Given the description of an element on the screen output the (x, y) to click on. 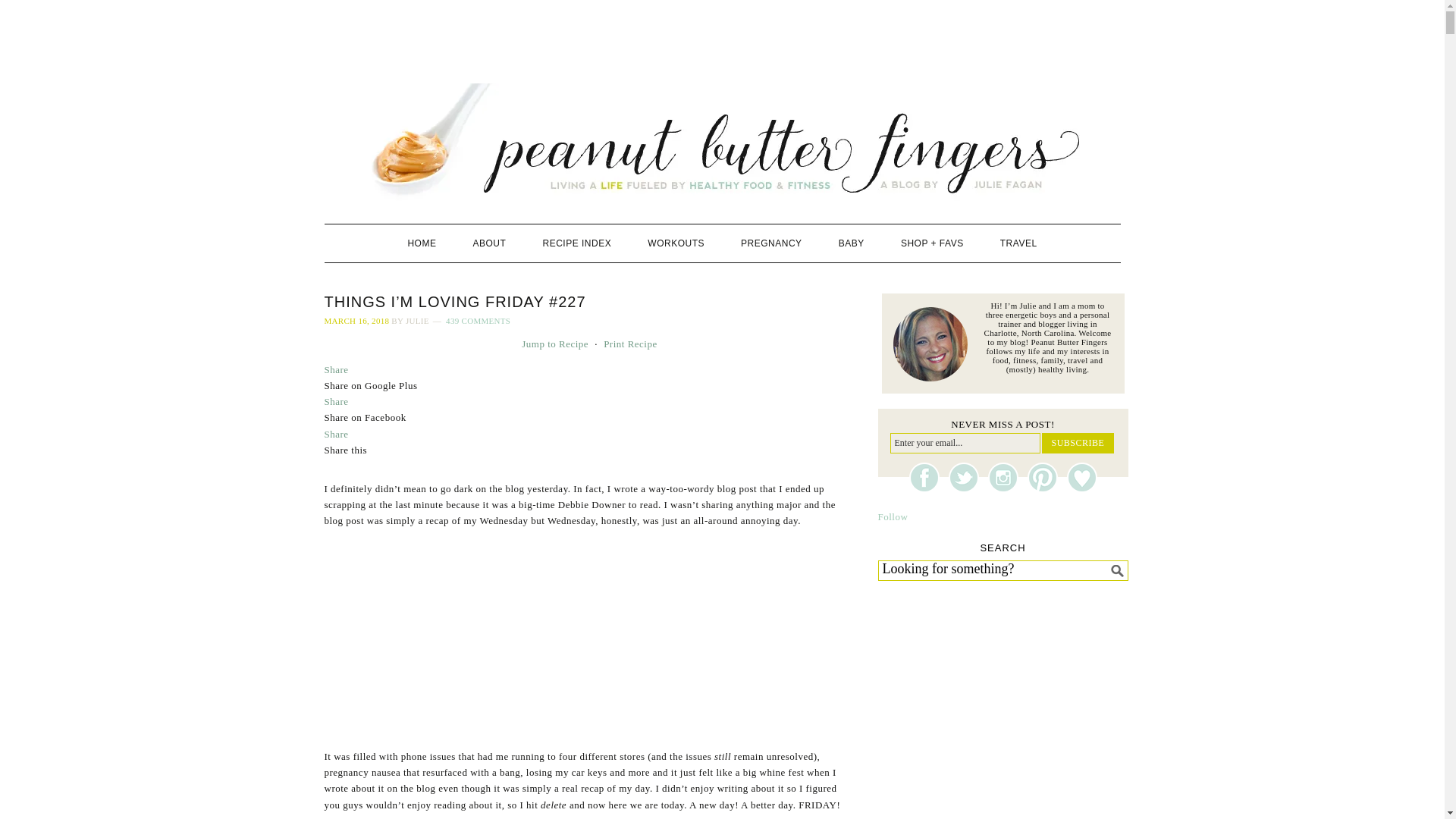
Share (336, 432)
ABOUT (489, 243)
HOME (421, 243)
WORKOUTS (675, 243)
TRAVEL (1019, 243)
Jump to Recipe (554, 343)
439 COMMENTS (478, 320)
Print Recipe (631, 343)
Share (336, 369)
Share (336, 401)
Jump to Recipe (554, 343)
Enter your email... (965, 443)
RECIPE INDEX (576, 243)
BABY (851, 243)
JULIE (417, 320)
